Given the description of an element on the screen output the (x, y) to click on. 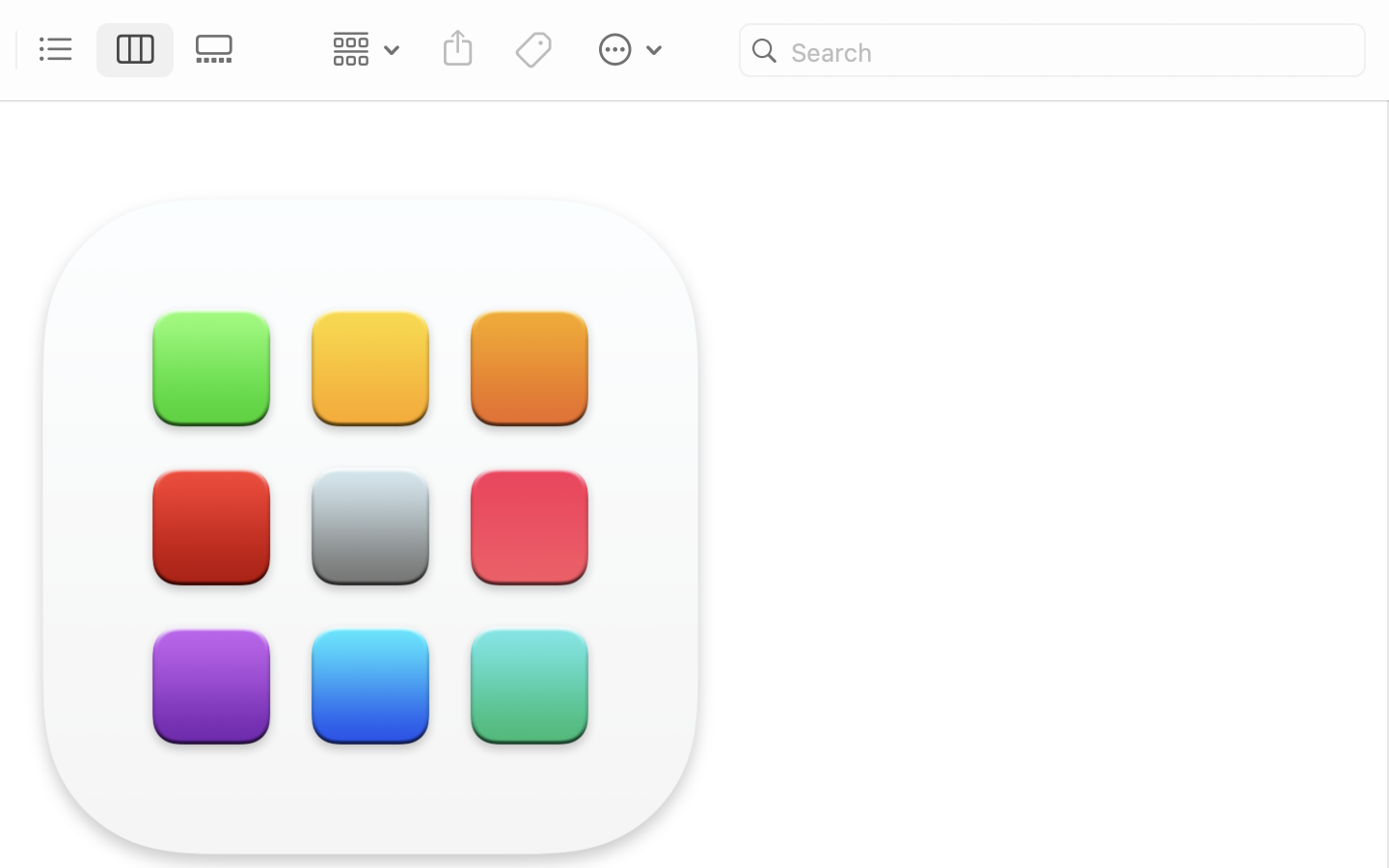
1 Element type: AXRadioButton (135, 49)
0 Element type: AXRadioButton (219, 49)
